Given the description of an element on the screen output the (x, y) to click on. 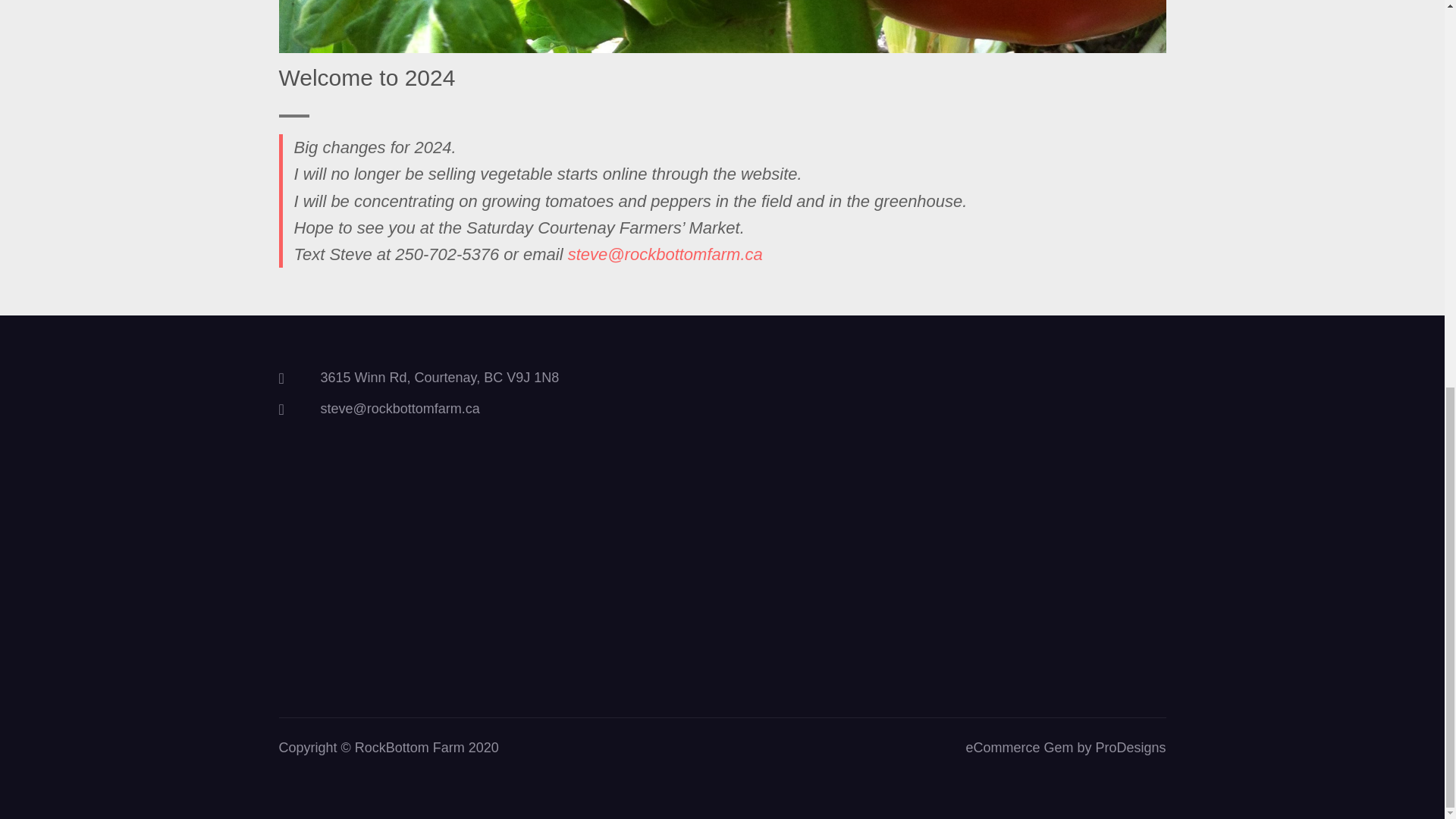
ProDesigns (1130, 747)
